Given the description of an element on the screen output the (x, y) to click on. 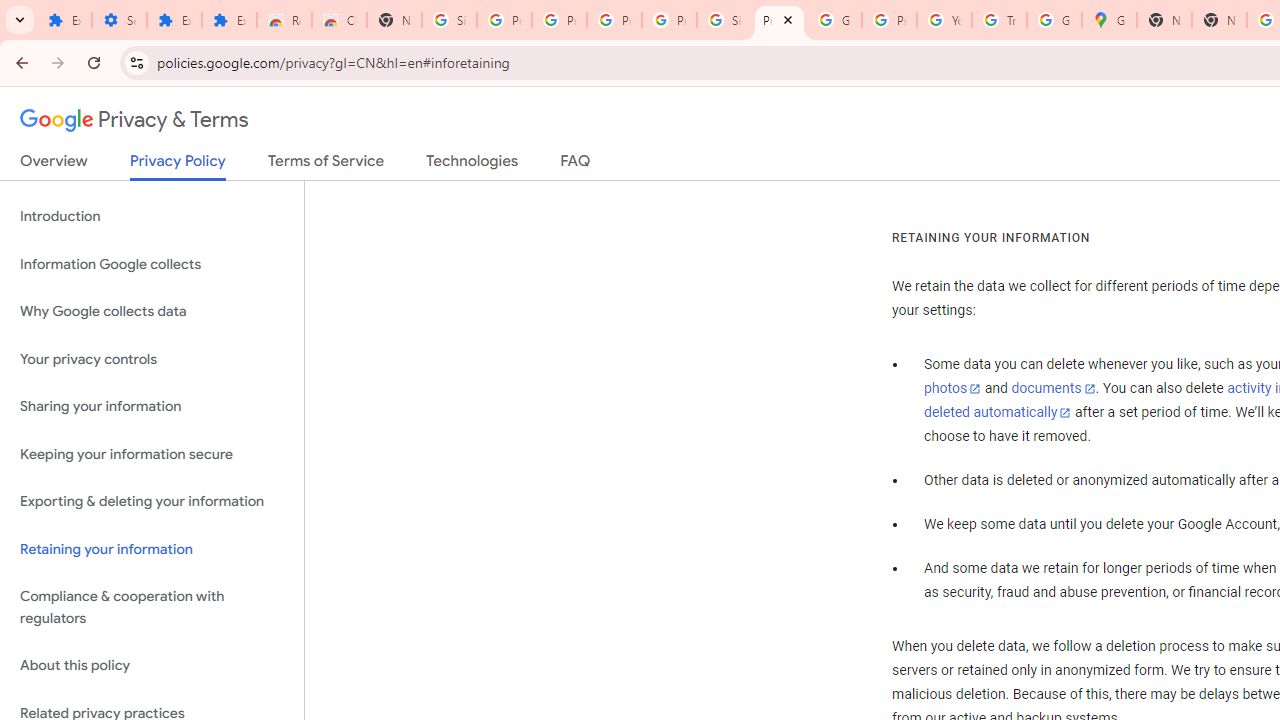
Introduction (152, 216)
About this policy (152, 666)
YouTube (943, 20)
photos (952, 389)
Exporting & deleting your information (152, 502)
Google Maps (1108, 20)
documents (1053, 389)
Extensions (229, 20)
Compliance & cooperation with regulators (152, 607)
New Tab (1163, 20)
Extensions (174, 20)
FAQ (575, 165)
